Given the description of an element on the screen output the (x, y) to click on. 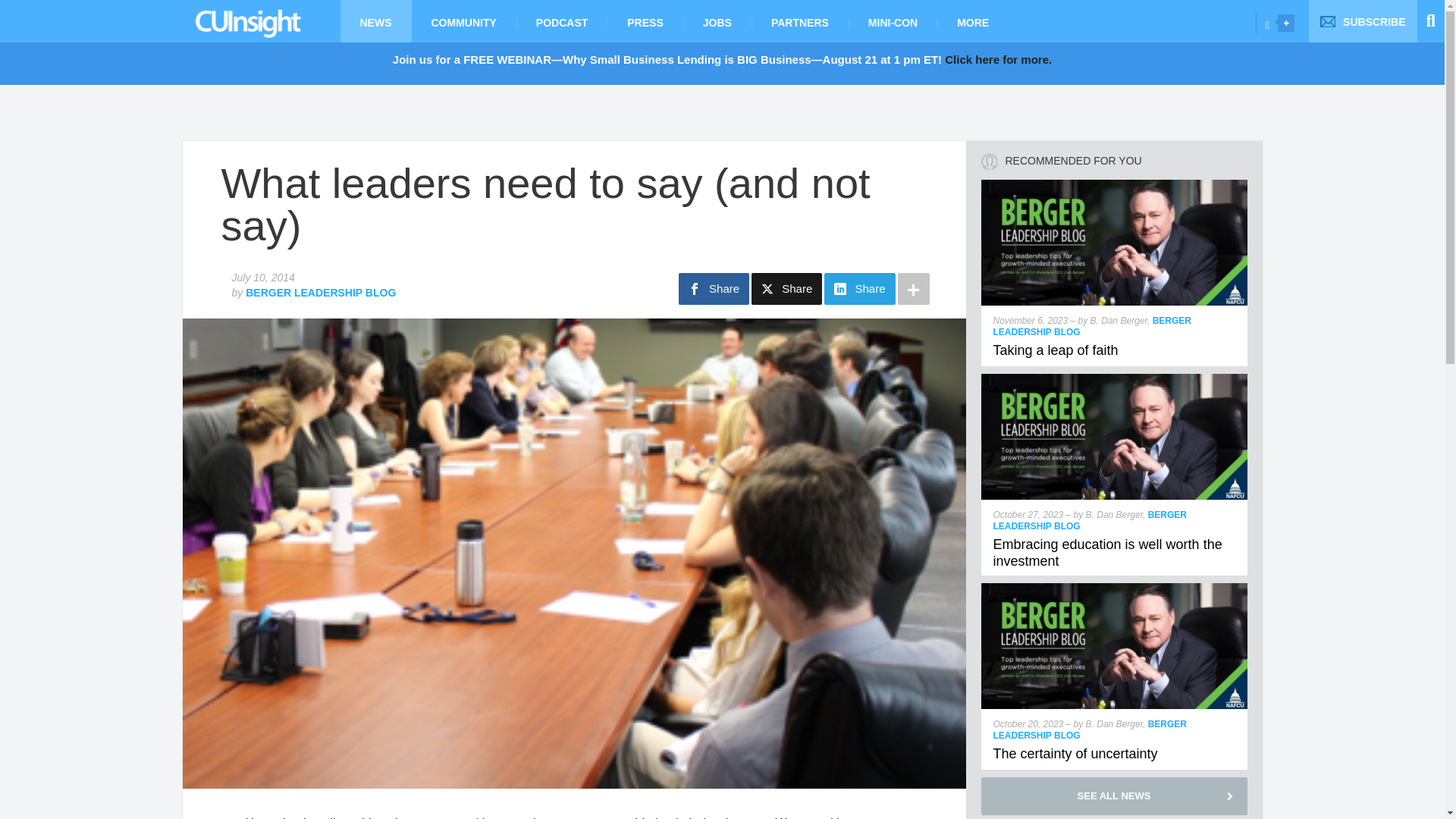
Opener (1286, 22)
JOBS (716, 21)
BERGER LEADERSHIP BLOG (321, 292)
Taking a leap of faith (1114, 185)
The certainty of uncertainty (1114, 589)
The certainty of uncertainty (1074, 753)
PRESS (644, 21)
PARTNERS (799, 21)
Share (786, 288)
PODCAST (561, 21)
